Given the description of an element on the screen output the (x, y) to click on. 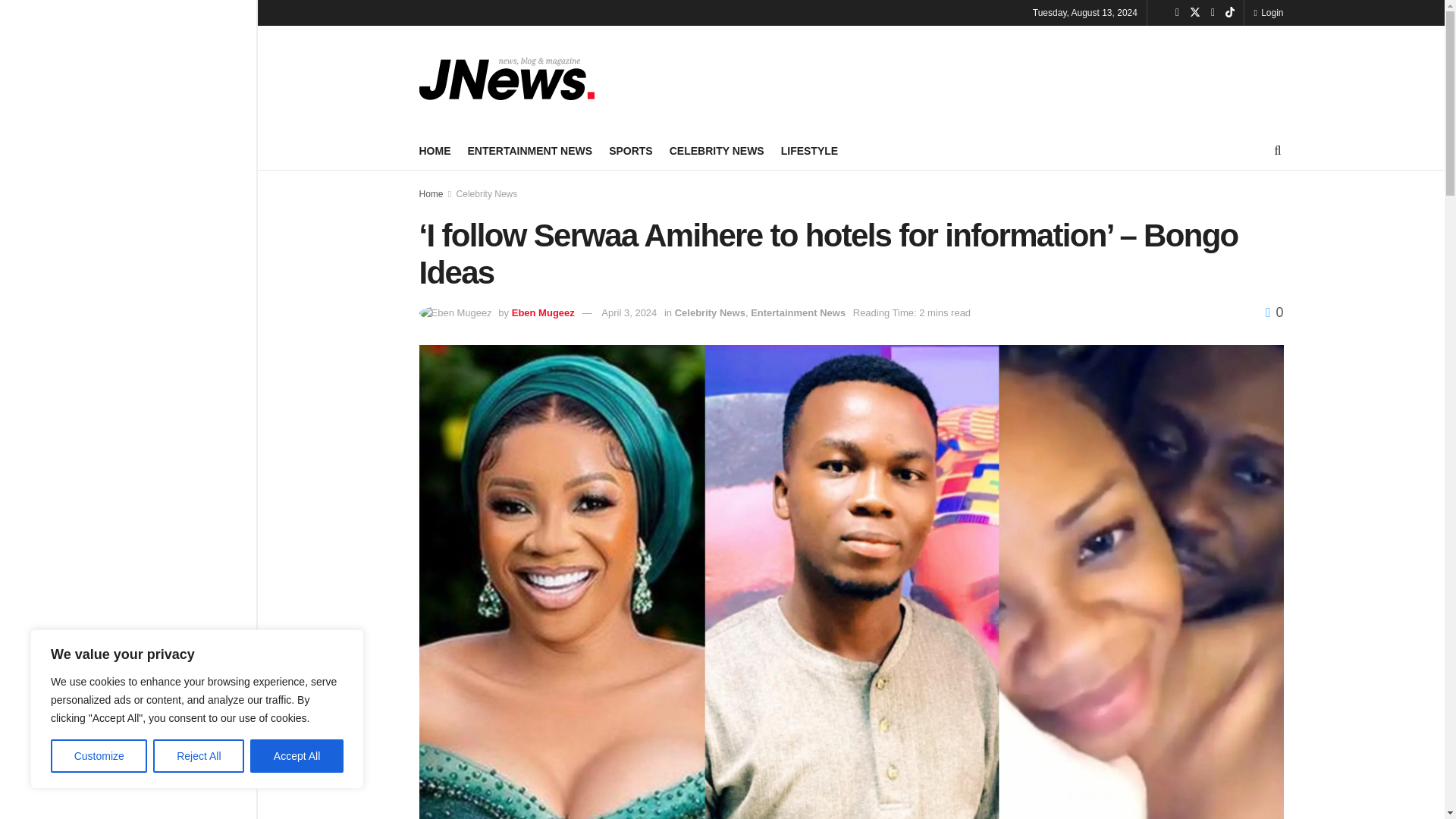
ENTERTAINMENT NEWS (529, 150)
Accept All (296, 756)
Customize (98, 756)
Reject All (198, 756)
LIFESTYLE (809, 150)
HOME (434, 150)
CELEBRITY NEWS (716, 150)
Login (1267, 12)
SPORTS (630, 150)
